Given the description of an element on the screen output the (x, y) to click on. 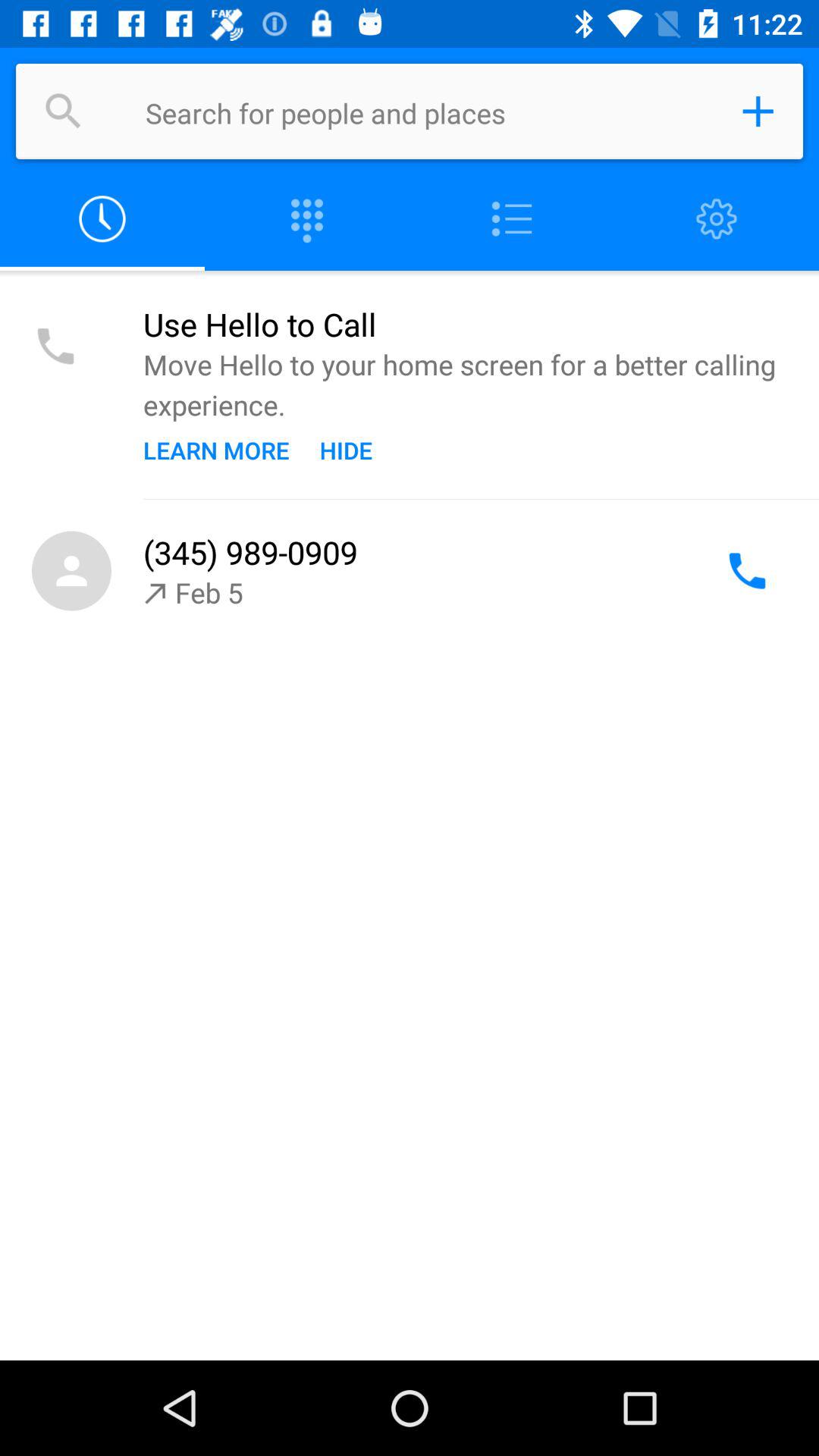
call the number (747, 570)
